Given the description of an element on the screen output the (x, y) to click on. 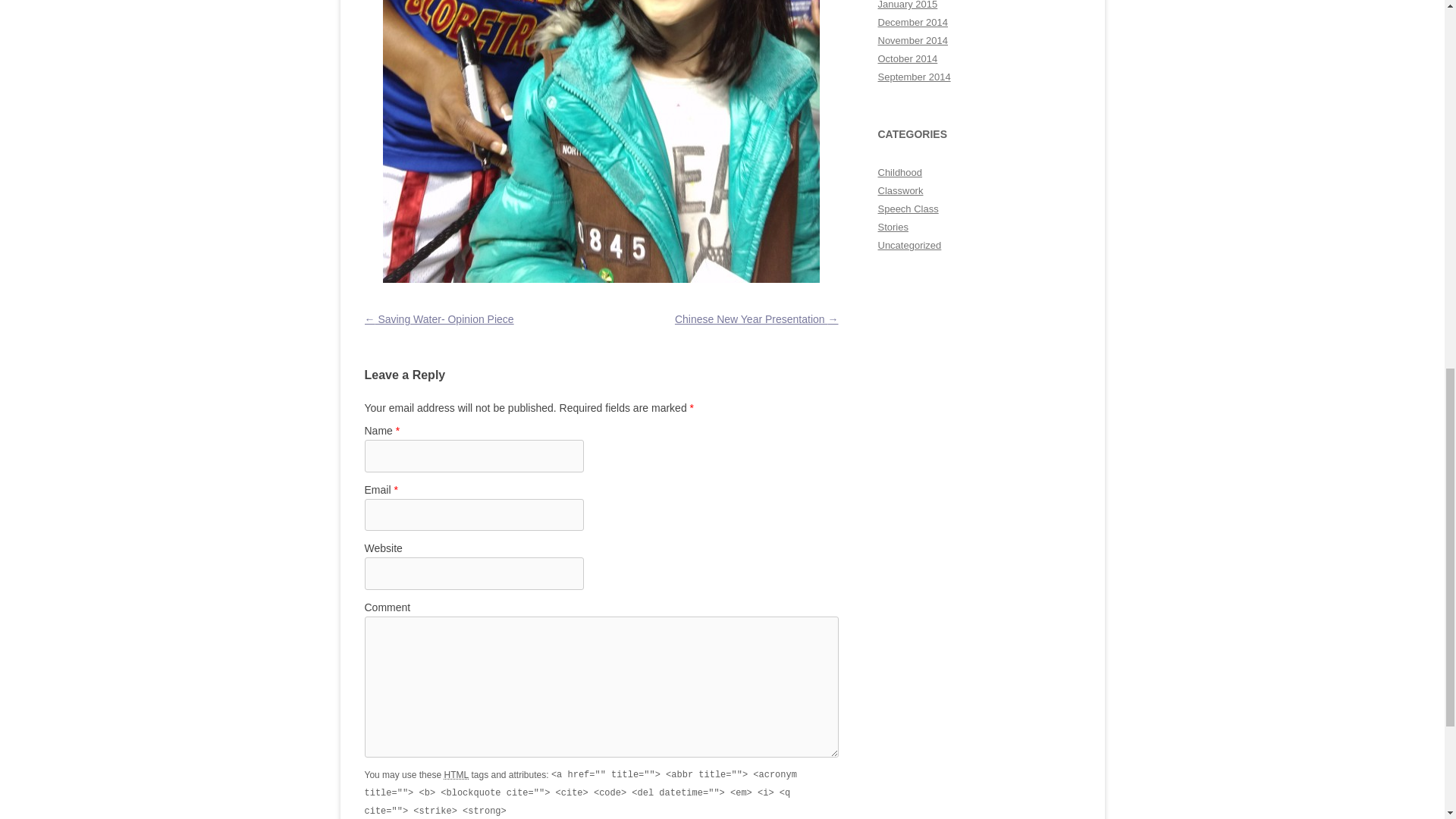
Uncategorized (909, 244)
September 2014 (913, 76)
Stories (892, 226)
Classwork (900, 190)
December 2014 (913, 21)
HyperText Markup Language (456, 774)
November 2014 (913, 40)
October 2014 (907, 58)
Childhood (900, 172)
Speech Class (908, 208)
January 2015 (907, 4)
